Given the description of an element on the screen output the (x, y) to click on. 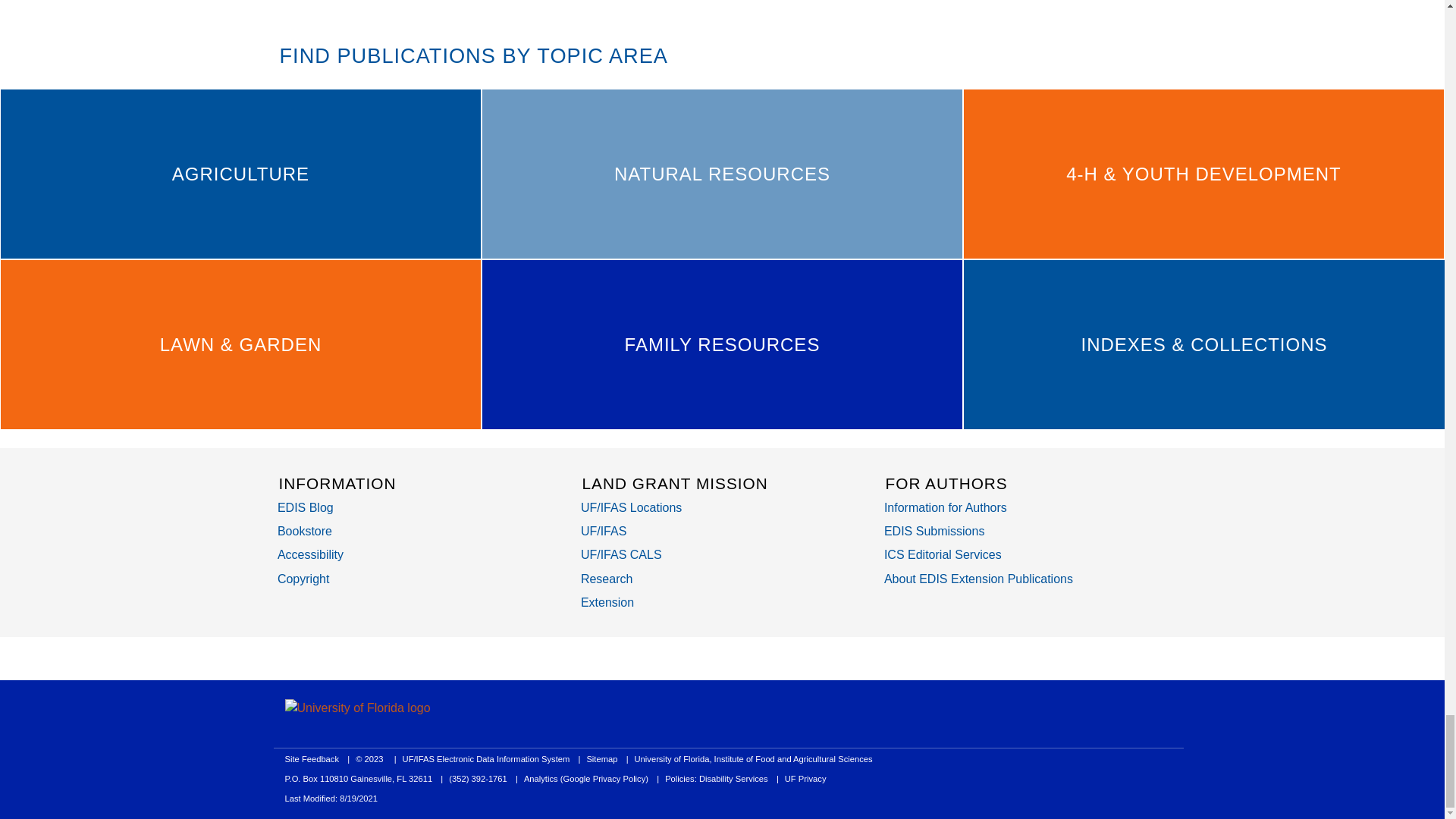
Copyright (303, 577)
Copyright (303, 577)
Accessibility (310, 554)
AGRICULTURE (240, 173)
EDIS Blog (305, 507)
FAMILY RESOURCES (721, 344)
Accessibility (310, 554)
Bookstore (304, 530)
College of Agricultural and Life Sciences (621, 554)
EDIS Blog (305, 507)
NATURAL RESOURCES (721, 173)
